Given the description of an element on the screen output the (x, y) to click on. 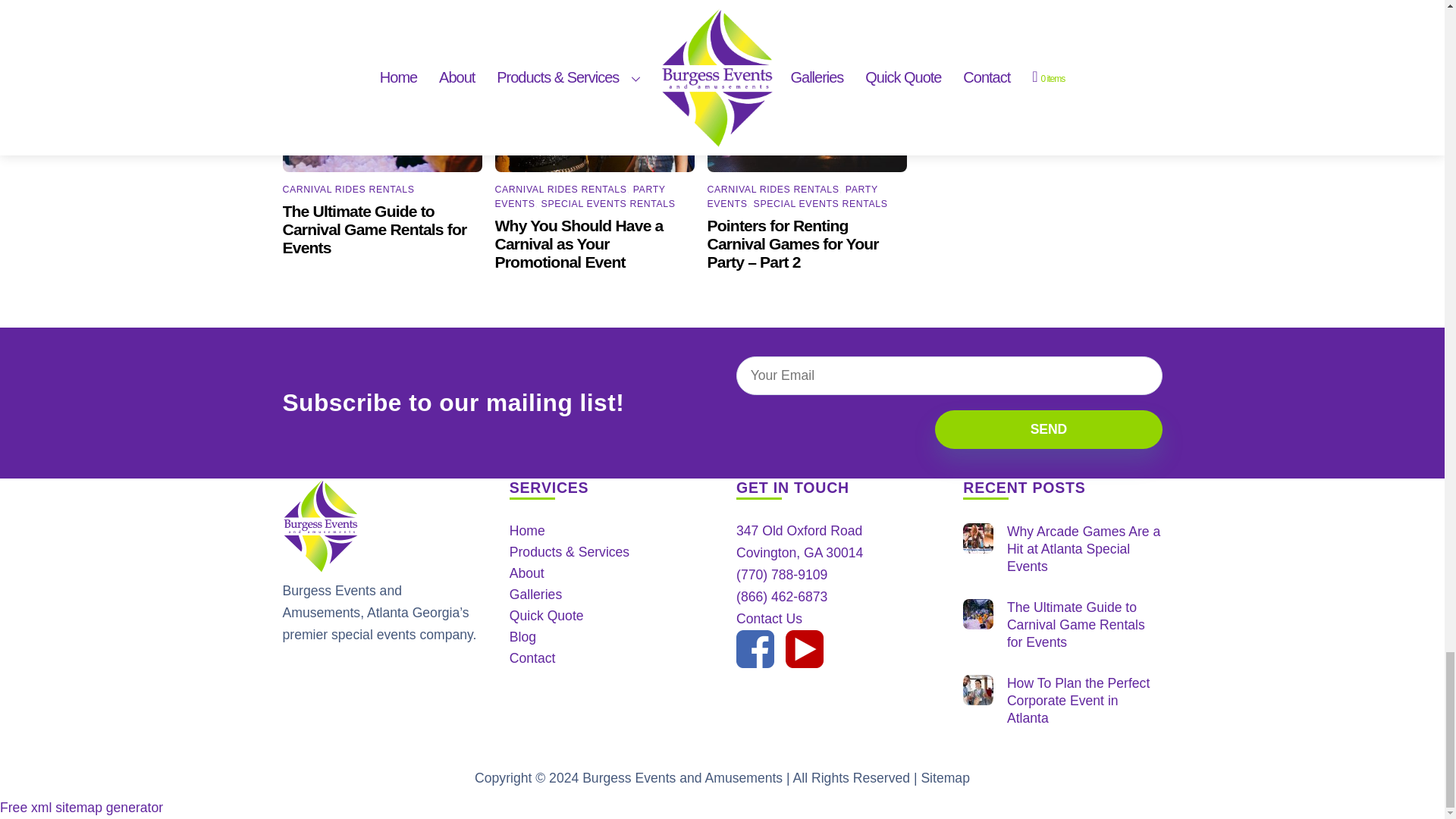
Send (1047, 429)
Carnival Game (381, 87)
devon-rogers-rSJkrxTI1vQ-unsplash (807, 87)
Corporate Event (977, 689)
natalia-blauth-Y7G27hhg15U-unsplash (595, 87)
Carnival Game (977, 613)
Arcade Games (977, 538)
